Given the description of an element on the screen output the (x, y) to click on. 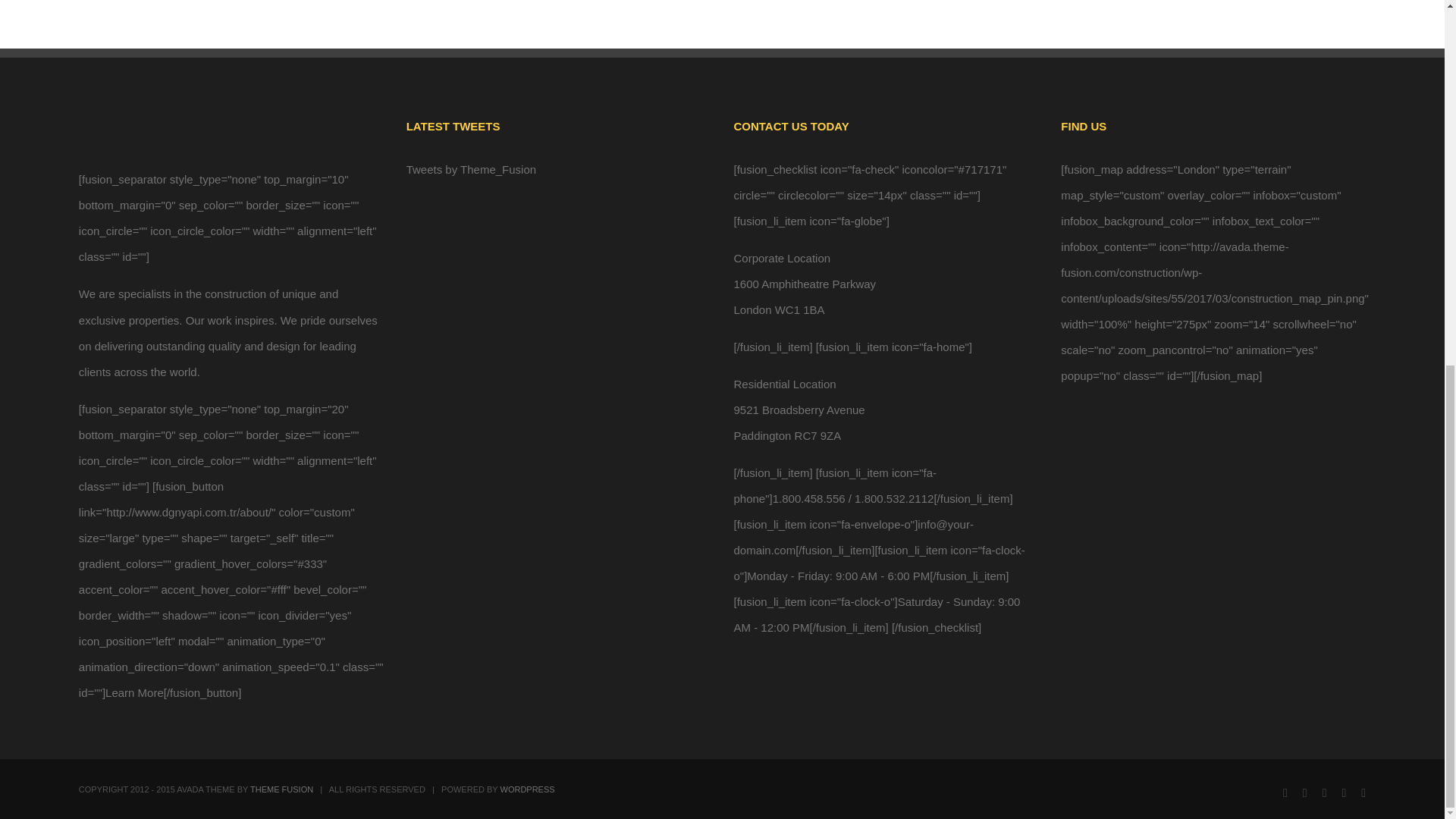
THEME FUSION (281, 788)
WORDPRESS (527, 788)
